Given the description of an element on the screen output the (x, y) to click on. 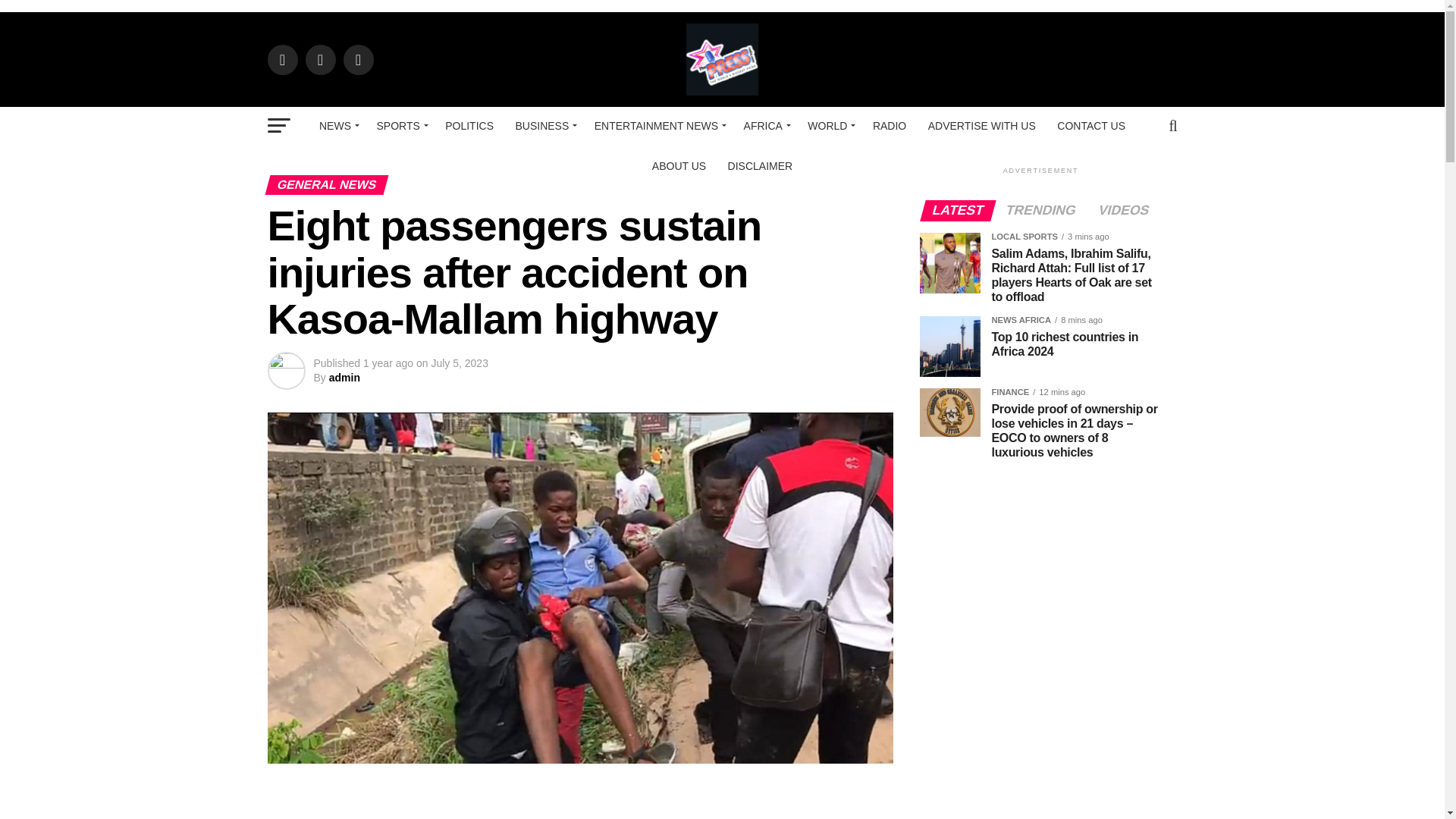
NEWS (337, 125)
